Given the description of an element on the screen output the (x, y) to click on. 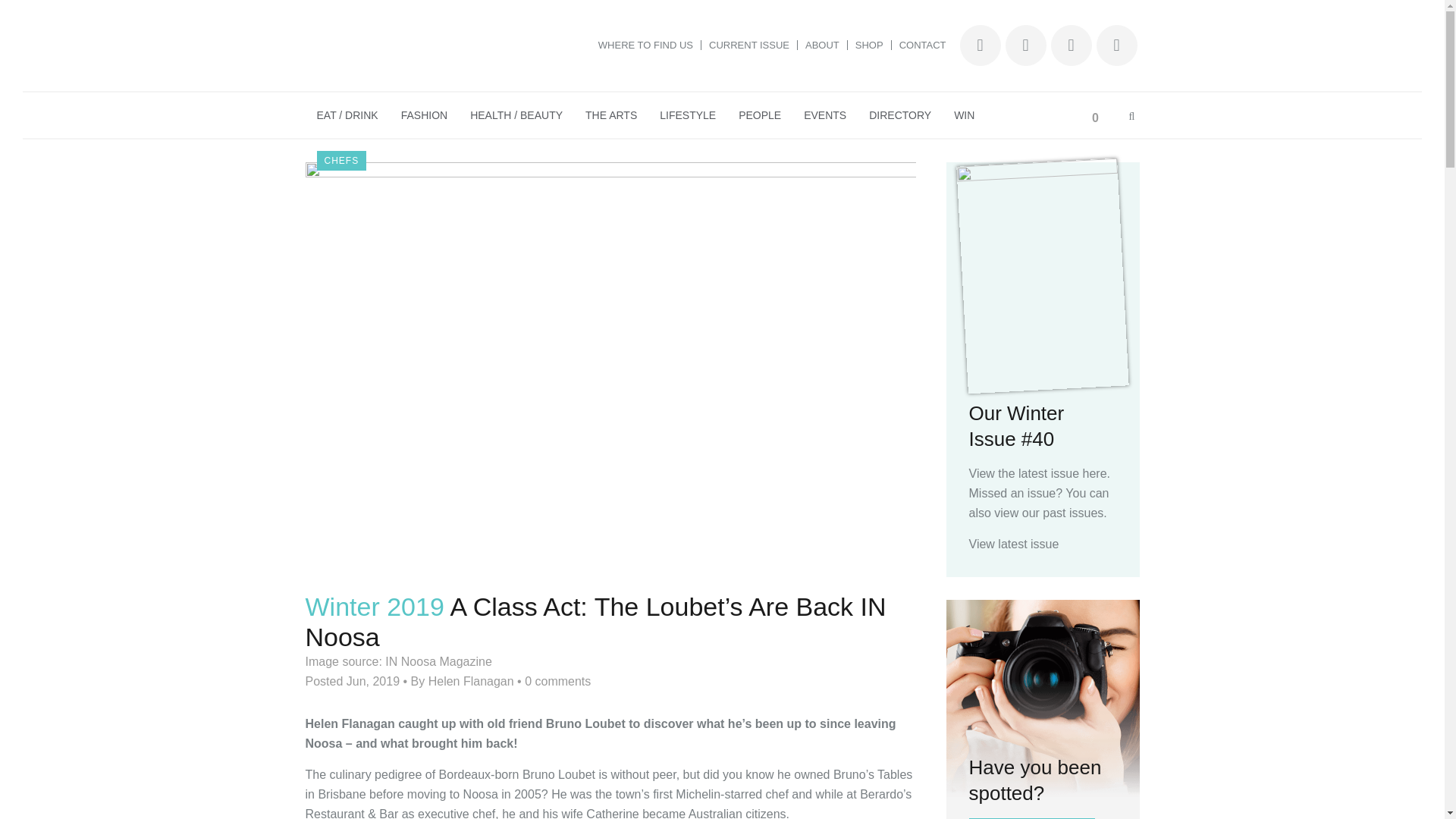
WHERE TO FIND US (646, 44)
ABOUT (822, 44)
FASHION (424, 115)
CURRENT ISSUE (749, 44)
CONTACT (918, 44)
SHOP (869, 44)
